Given the description of an element on the screen output the (x, y) to click on. 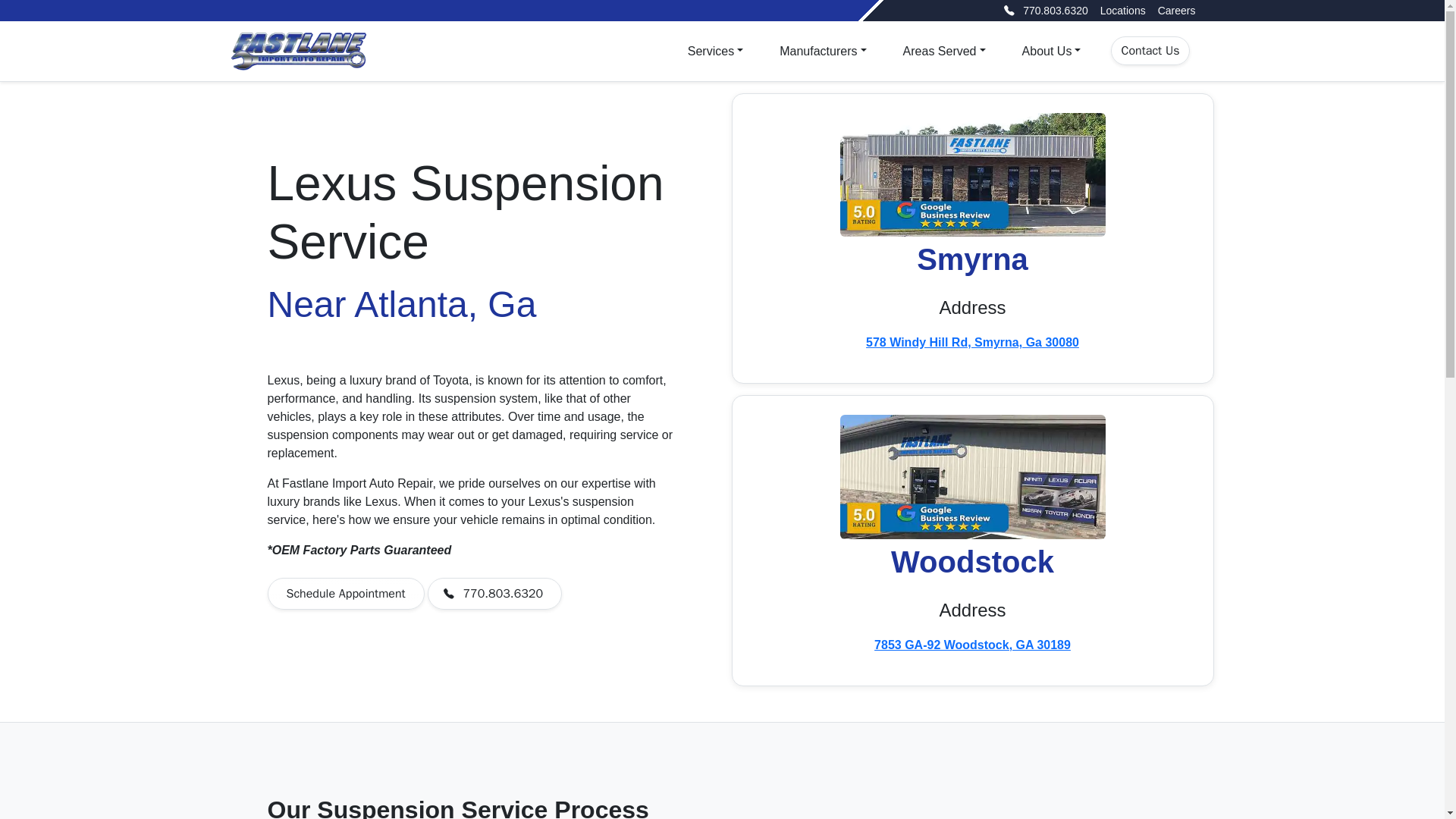
Locations (1122, 10)
770.803.6320 (1042, 10)
Careers (1176, 10)
Manufacturers (822, 51)
Services (715, 51)
Fastlane Import Auto Repair Logo (297, 51)
Areas Served (943, 51)
